Given the description of an element on the screen output the (x, y) to click on. 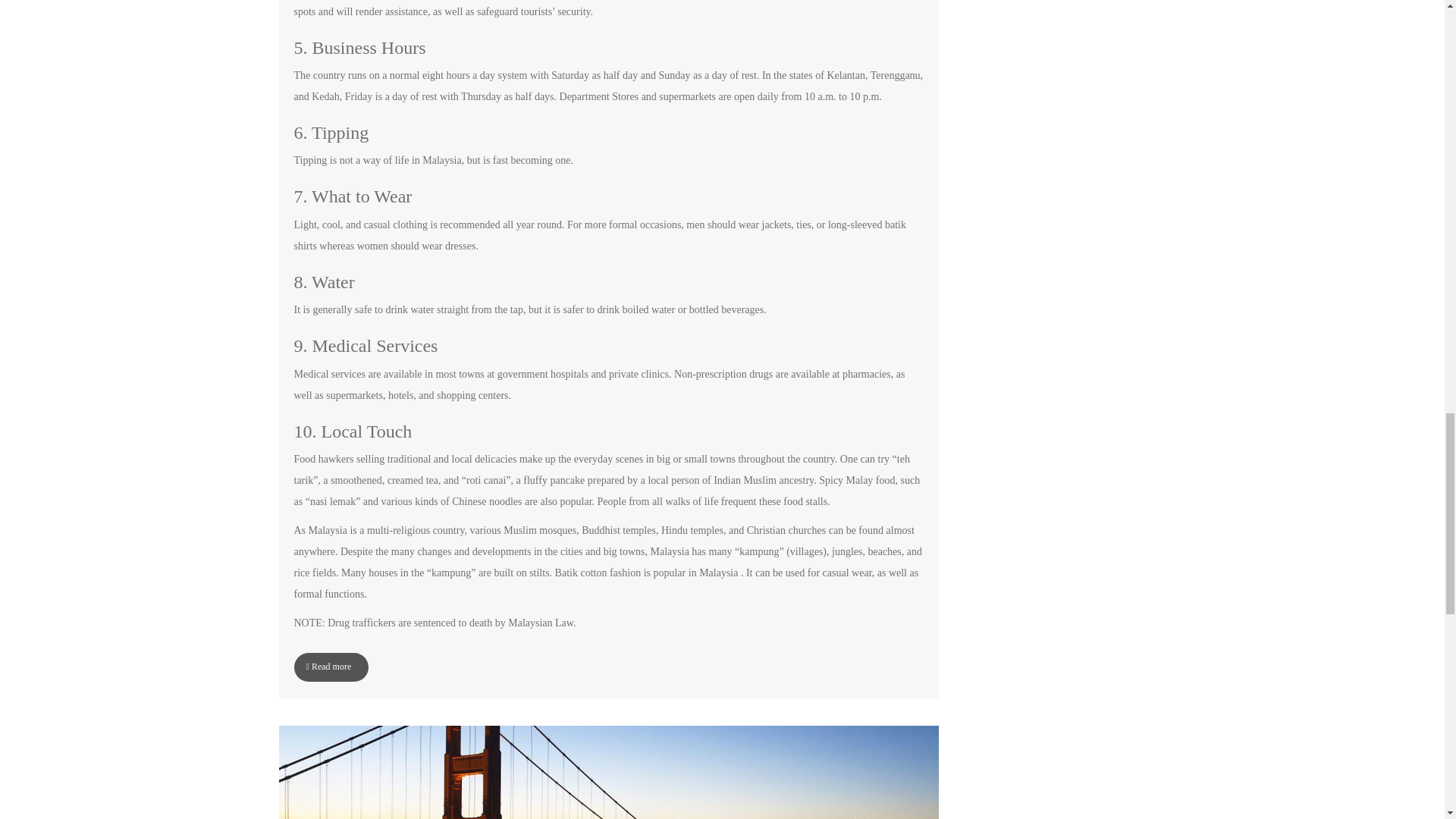
Read more (331, 666)
